Given the description of an element on the screen output the (x, y) to click on. 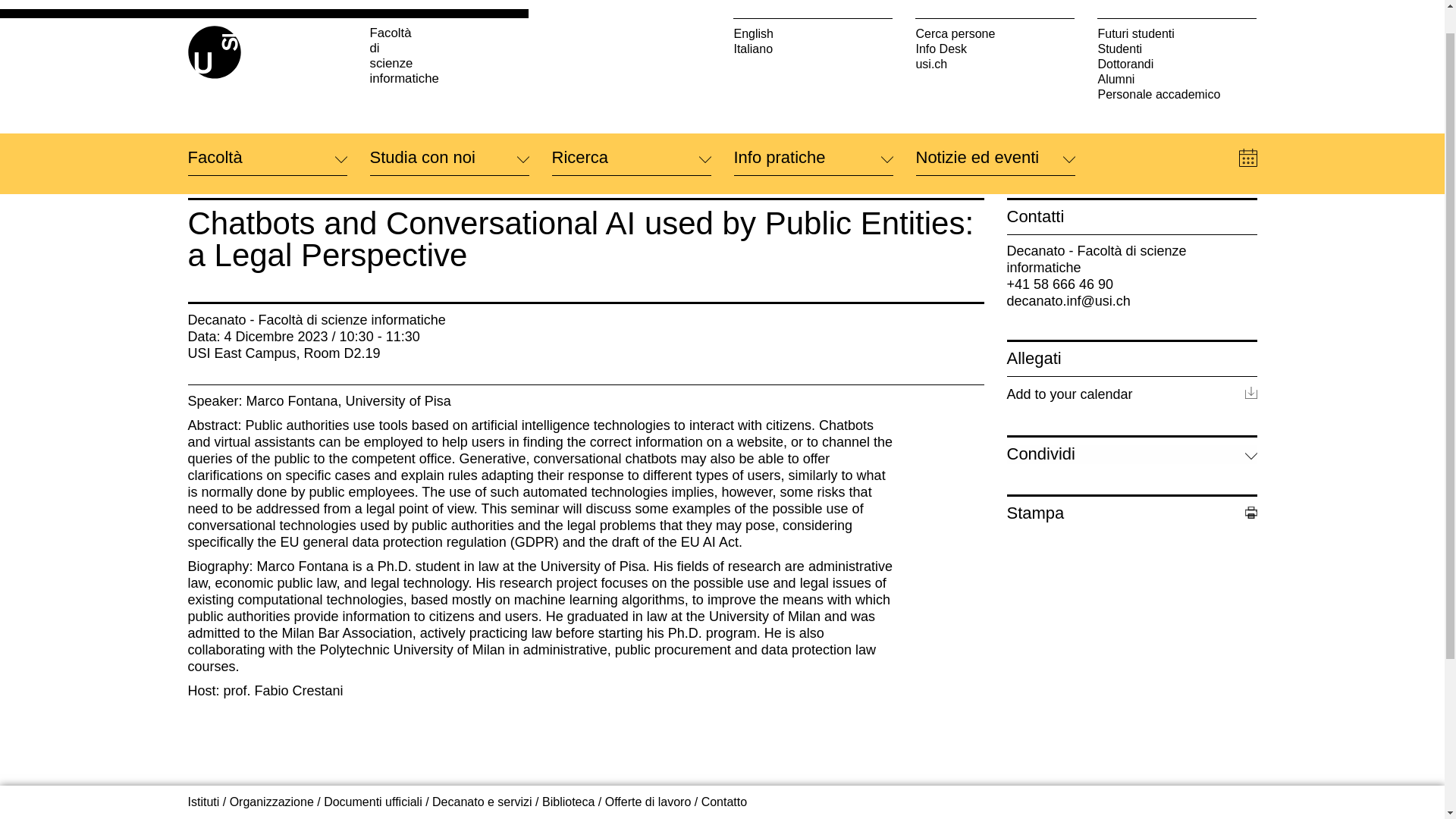
usi.ch (994, 34)
Alumni (1176, 49)
Cerca persone (994, 6)
Dottorandi (1176, 34)
Studenti (1176, 19)
Personale accademico (1176, 64)
Info Desk (994, 19)
Italiano (812, 19)
Futuri studenti (1176, 6)
English (812, 6)
